Given the description of an element on the screen output the (x, y) to click on. 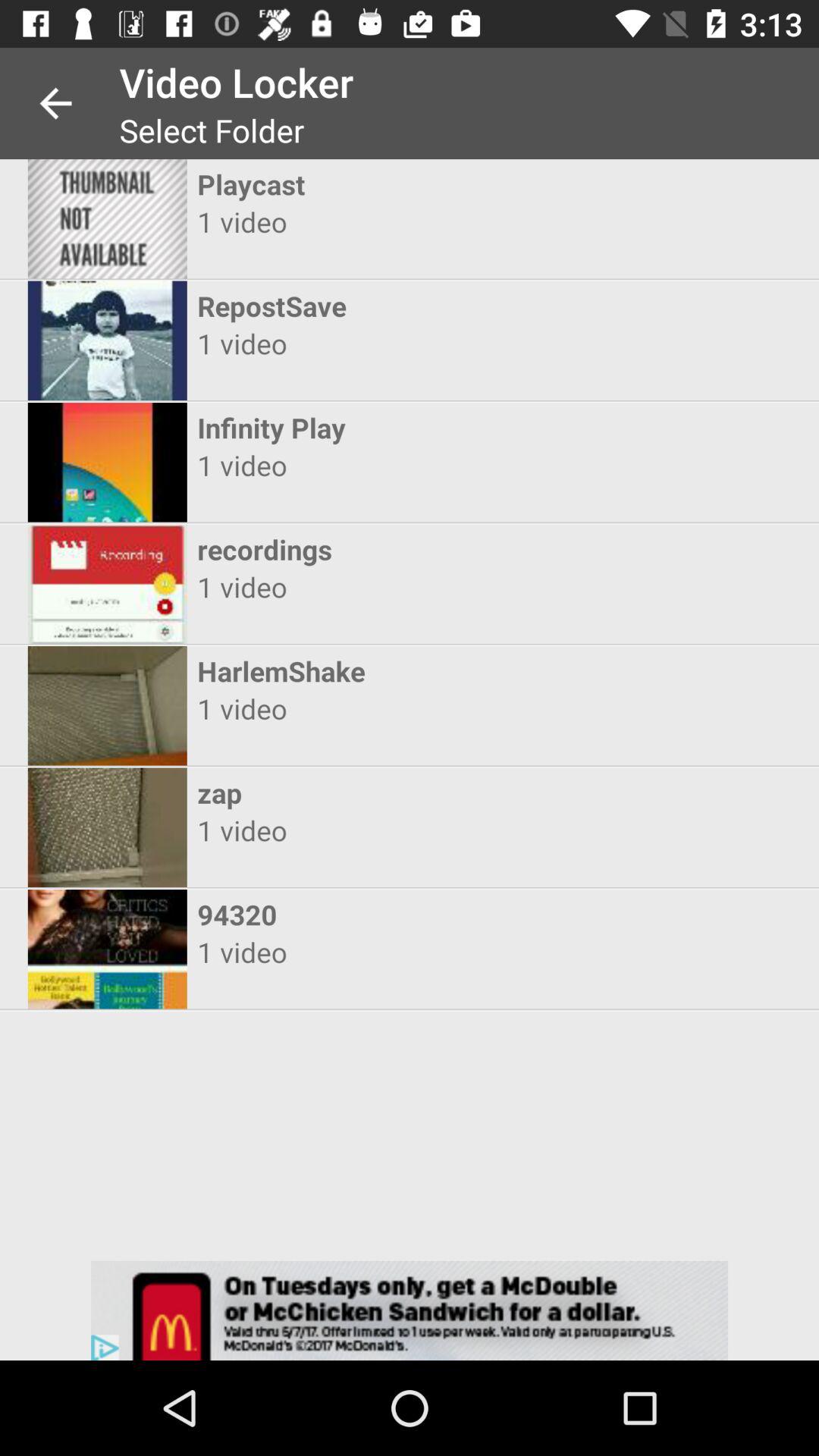
jump to the repostsave item (396, 305)
